Given the description of an element on the screen output the (x, y) to click on. 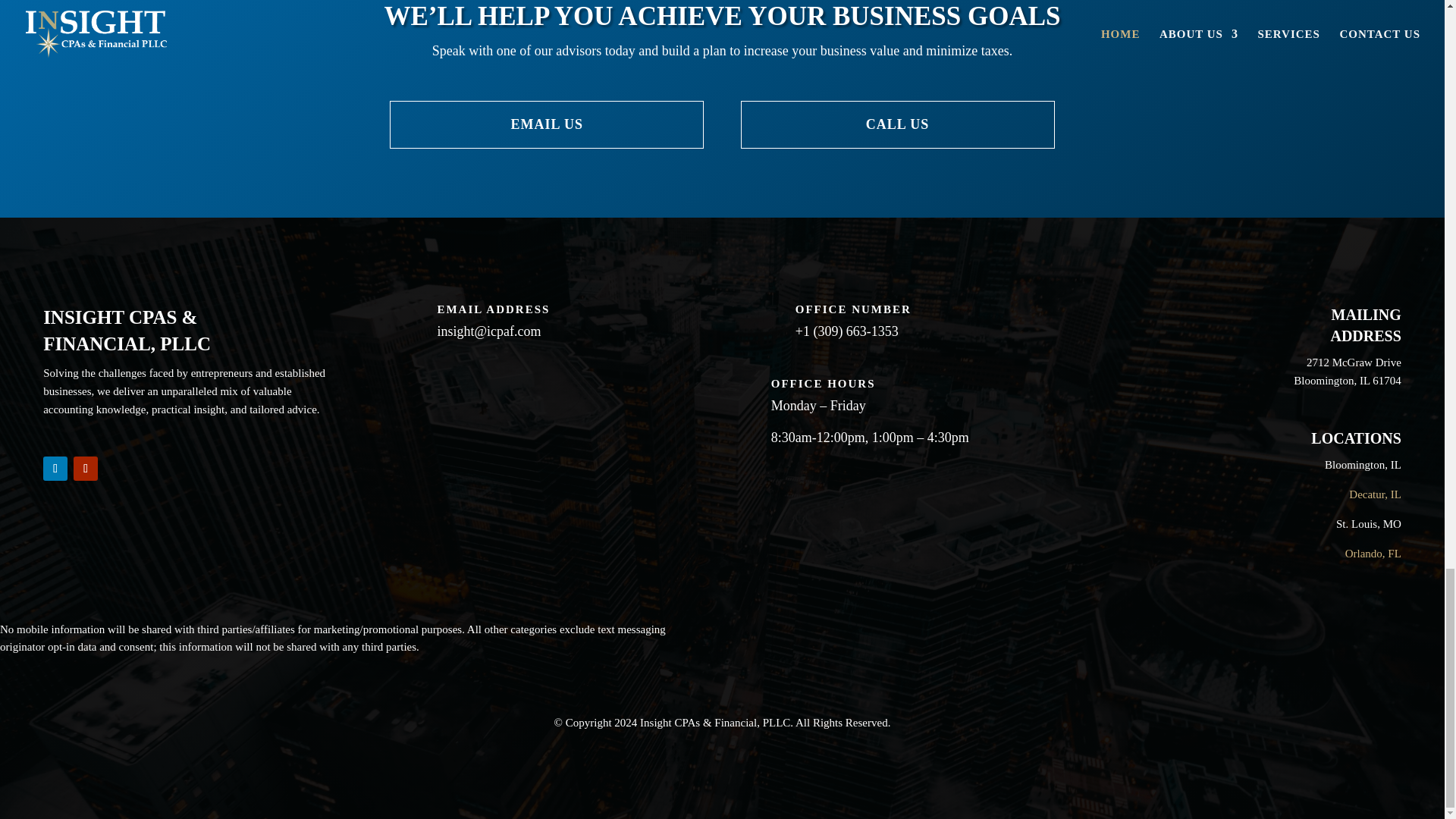
Follow on LinkedIn (54, 468)
Follow on Youtube (85, 468)
CALL US (897, 124)
EMAIL US (546, 124)
